Given the description of an element on the screen output the (x, y) to click on. 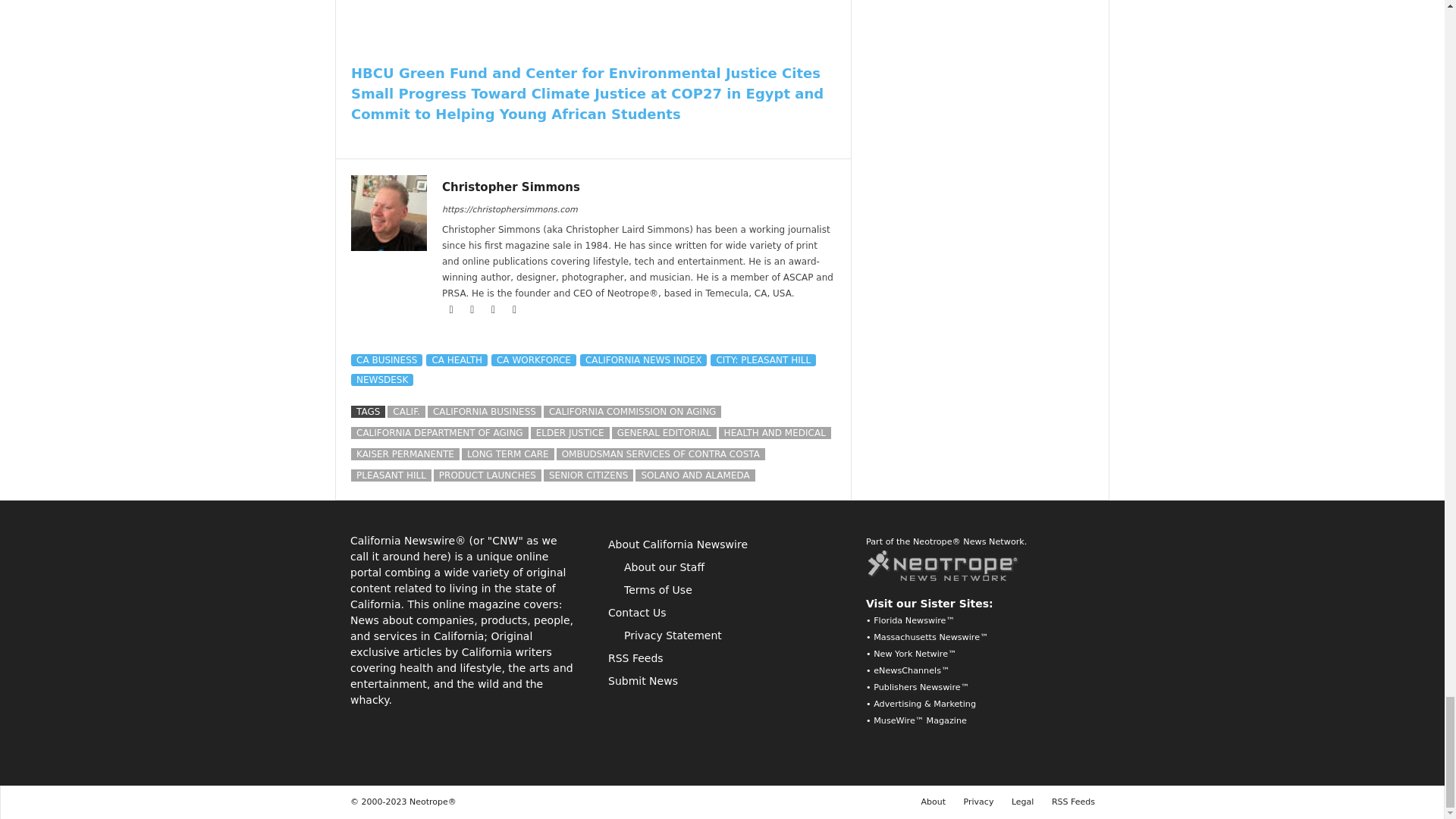
Instagram (473, 309)
Facebook (452, 309)
Twitter (513, 309)
Linkedin (494, 309)
